Given the description of an element on the screen output the (x, y) to click on. 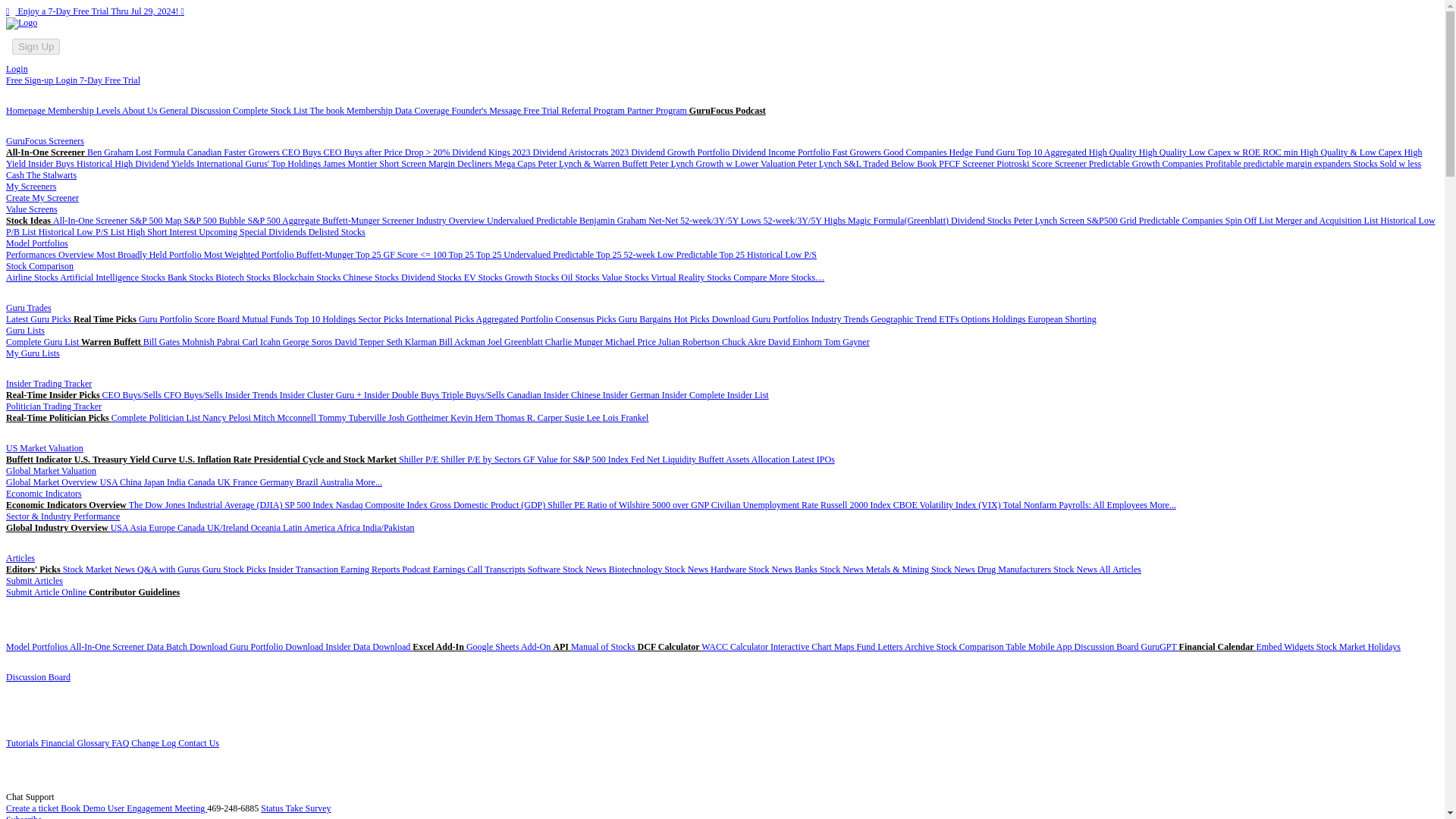
Historical High Dividend Yields (136, 163)
Homepage (26, 110)
Dividend Aristocrats 2023 (581, 152)
High Yield Insider Buys (713, 157)
Canadian Faster Growers (234, 152)
Hedge Fund Guru Top 10 Aggregated (1019, 152)
Free Trial (541, 110)
General Discussion (195, 110)
Membership Data Coverage (398, 110)
Complete Stock List (270, 110)
Sign Up (35, 46)
Dividend Growth Portfolio (681, 152)
High Quality (1113, 152)
Login (16, 68)
GuruFocus Screeners (44, 140)
